Given the description of an element on the screen output the (x, y) to click on. 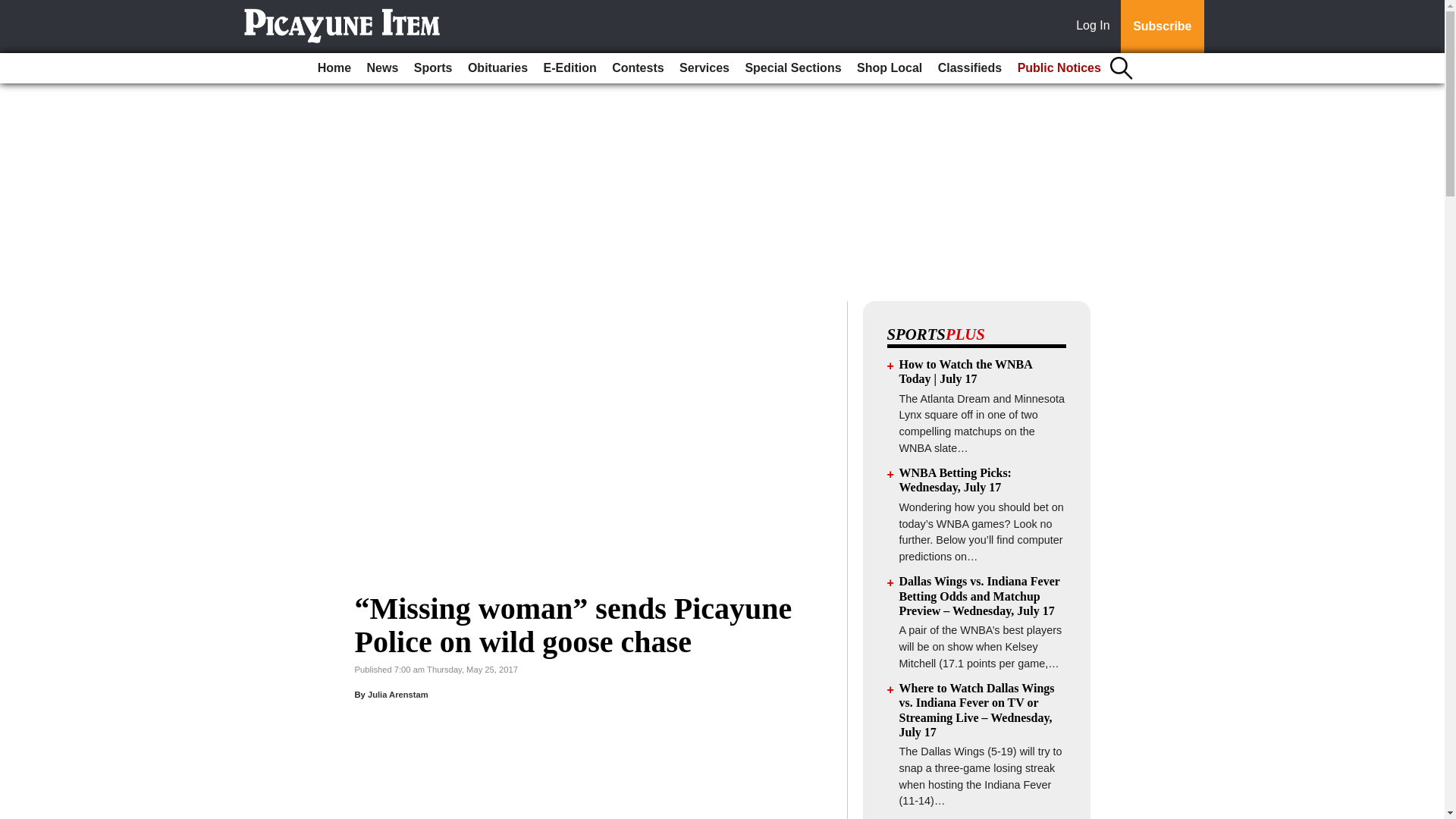
Log In (1095, 26)
WNBA Betting Picks: Wednesday, July 17 (955, 479)
Sports (432, 68)
Contests (637, 68)
Special Sections (792, 68)
Home (333, 68)
Classifieds (969, 68)
Obituaries (497, 68)
Public Notices (1058, 68)
News (382, 68)
Shop Local (889, 68)
Services (703, 68)
Julia Arenstam (398, 694)
Subscribe (1162, 26)
Go (13, 9)
